Given the description of an element on the screen output the (x, y) to click on. 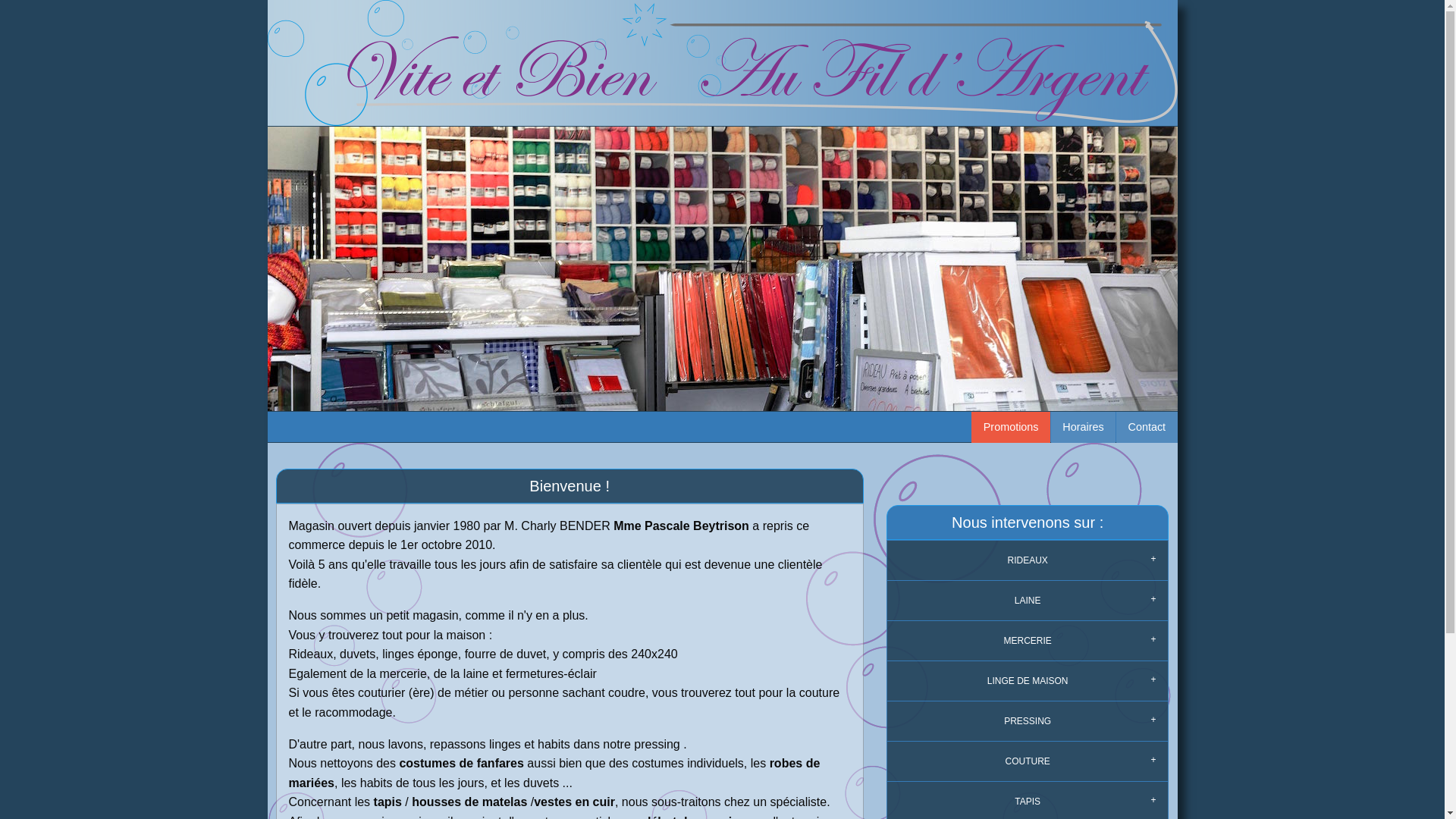
RIDEAUX Element type: text (1027, 560)
MERCERIE Element type: text (1027, 641)
LINGE DE MAISON Element type: text (1027, 681)
Horaires Element type: text (1083, 426)
PRESSING Element type: text (1027, 721)
LAINE Element type: text (1027, 600)
Contact Element type: text (1146, 426)
Promotions Element type: text (1010, 426)
COUTURE Element type: text (1027, 761)
